Given the description of an element on the screen output the (x, y) to click on. 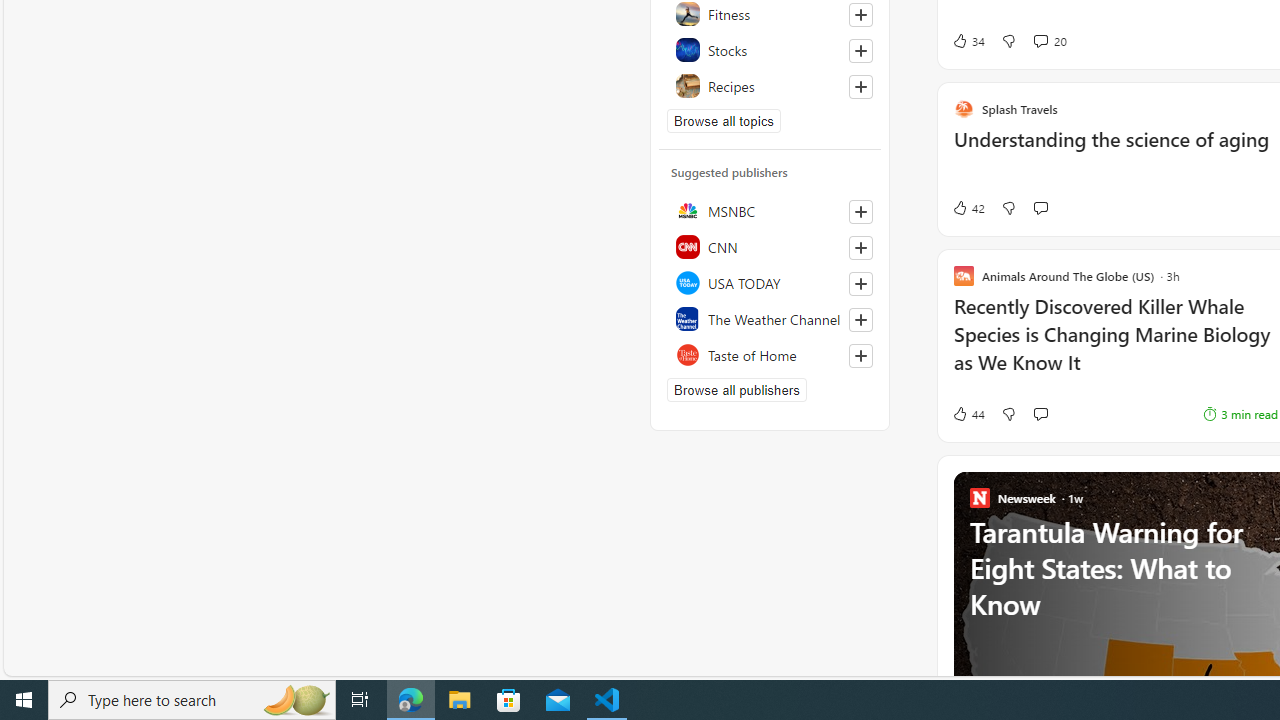
Search highlights icon opens search home window (295, 699)
Visual Studio Code - 1 running window (607, 699)
Task View (359, 699)
Start (24, 699)
Microsoft Store (509, 699)
Microsoft Edge - 1 running window (411, 699)
File Explorer (460, 699)
Type here to search (191, 699)
